Given the description of an element on the screen output the (x, y) to click on. 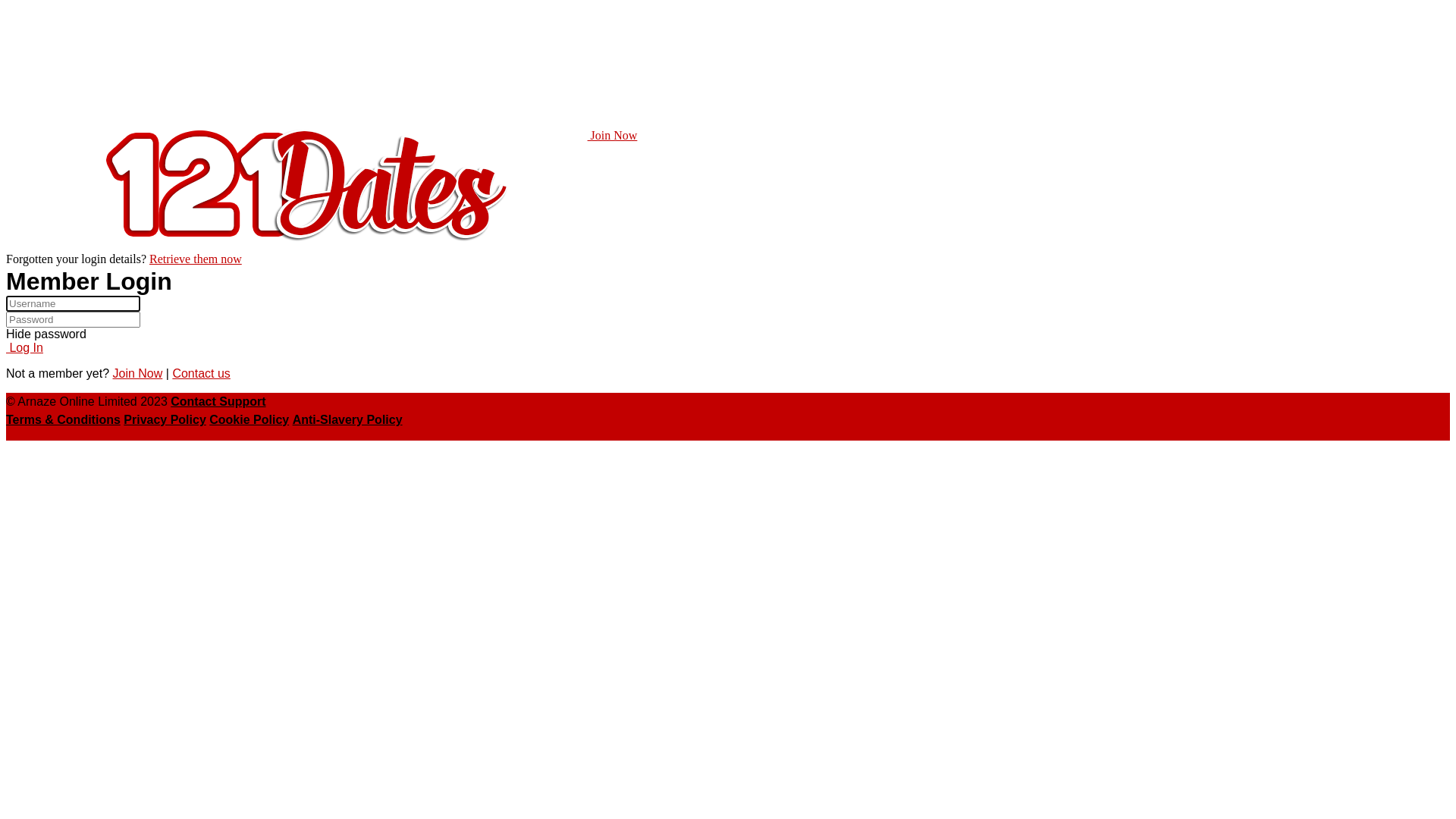
Contact Support Element type: text (217, 401)
Privacy Policy Element type: text (164, 419)
Anti-Slavery Policy Element type: text (347, 419)
Cookie Policy Element type: text (248, 419)
Contact us Element type: text (200, 373)
Join Now Element type: text (137, 373)
 Log In Element type: text (24, 347)
Terms & Conditions Element type: text (63, 419)
 Join Now Element type: text (612, 134)
Retrieve them now Element type: text (195, 258)
